Given the description of an element on the screen output the (x, y) to click on. 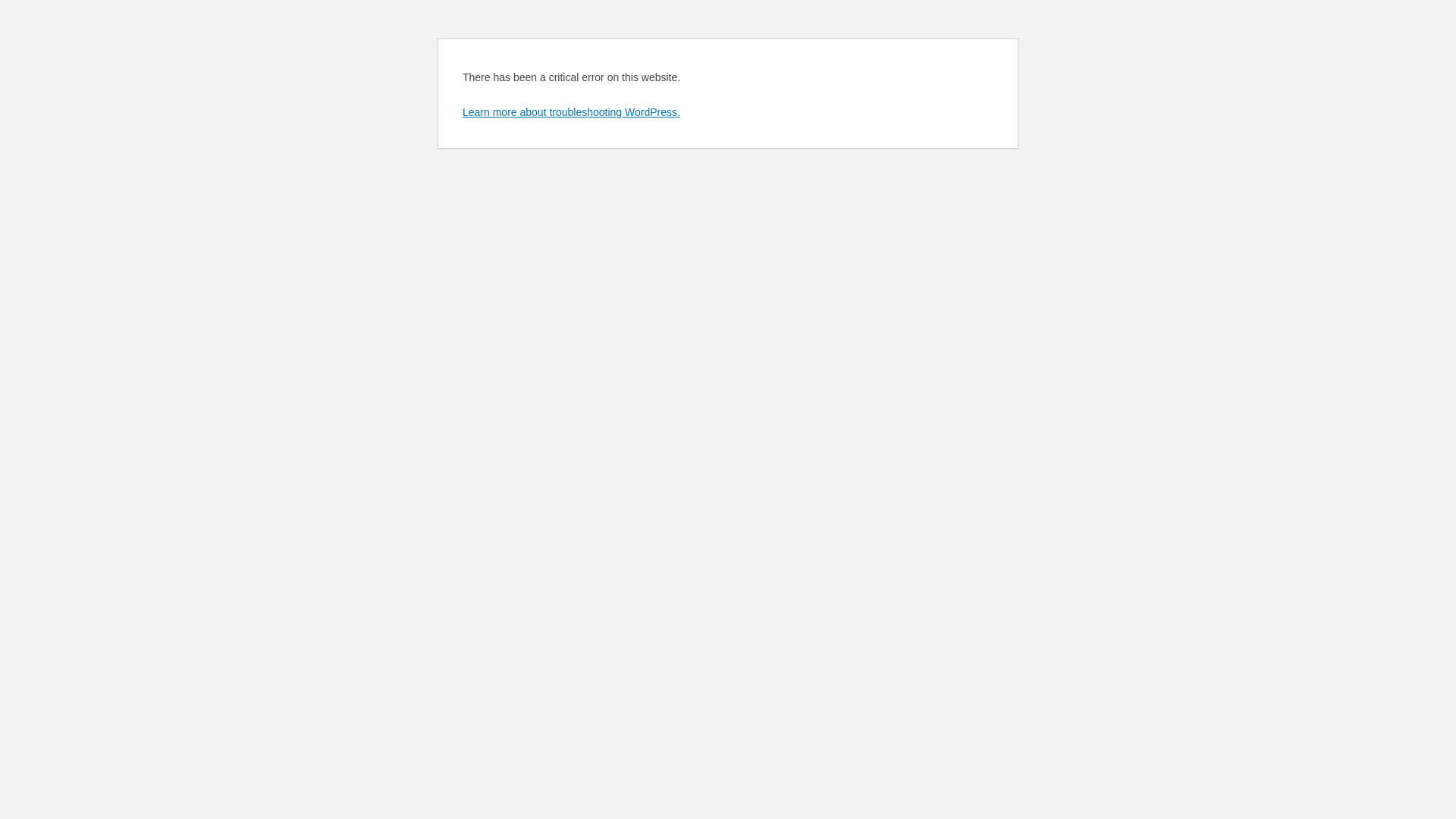
Learn more about troubleshooting WordPress. Element type: text (571, 112)
